Given the description of an element on the screen output the (x, y) to click on. 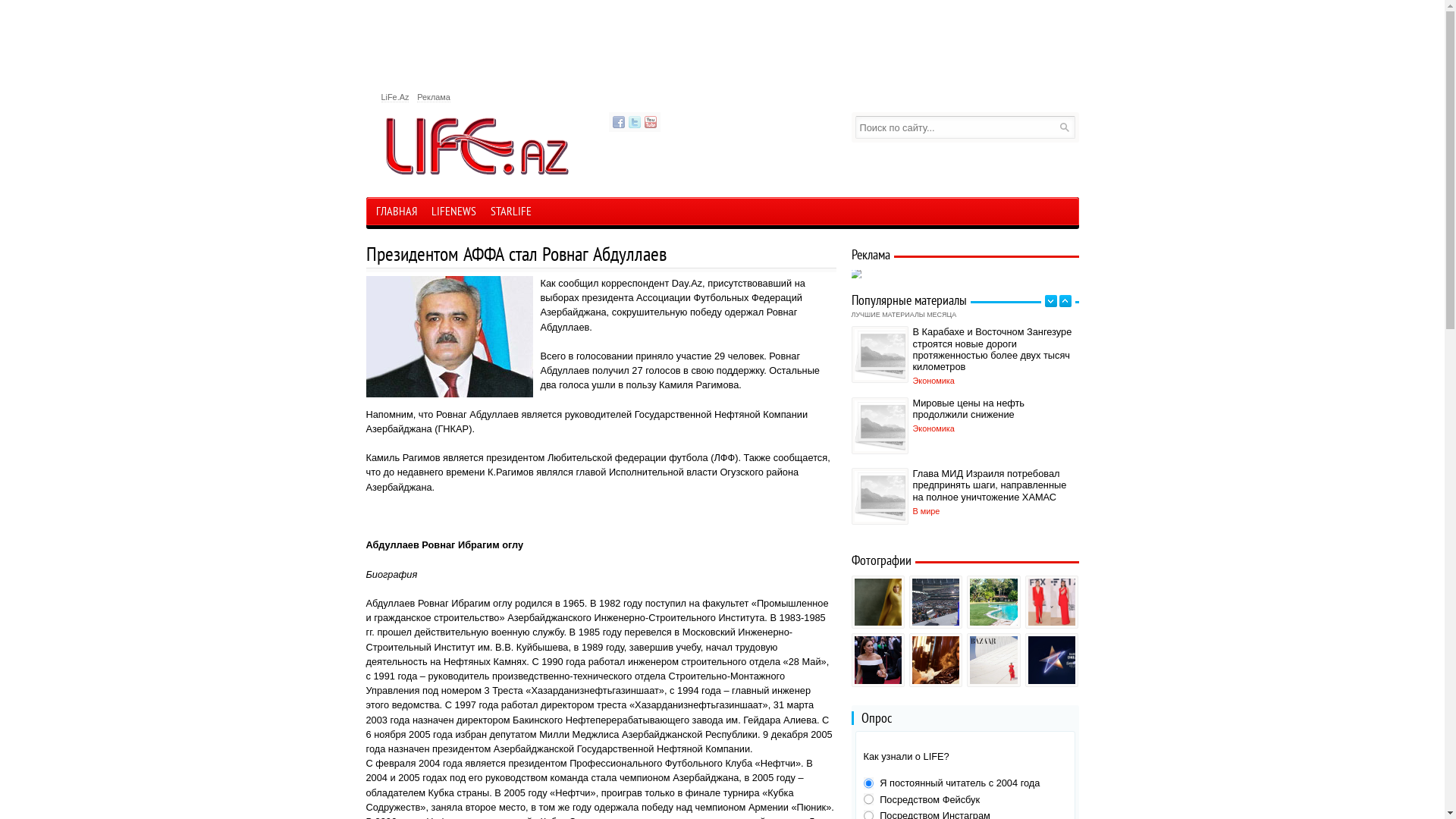
LIFENEWS Element type: text (453, 212)
Twitter Element type: hover (633, 122)
LiFe.Az Element type: text (394, 97)
Facebook Element type: hover (618, 122)
YouTube Element type: hover (650, 122)
STARLIFE Element type: text (510, 212)
